Given the description of an element on the screen output the (x, y) to click on. 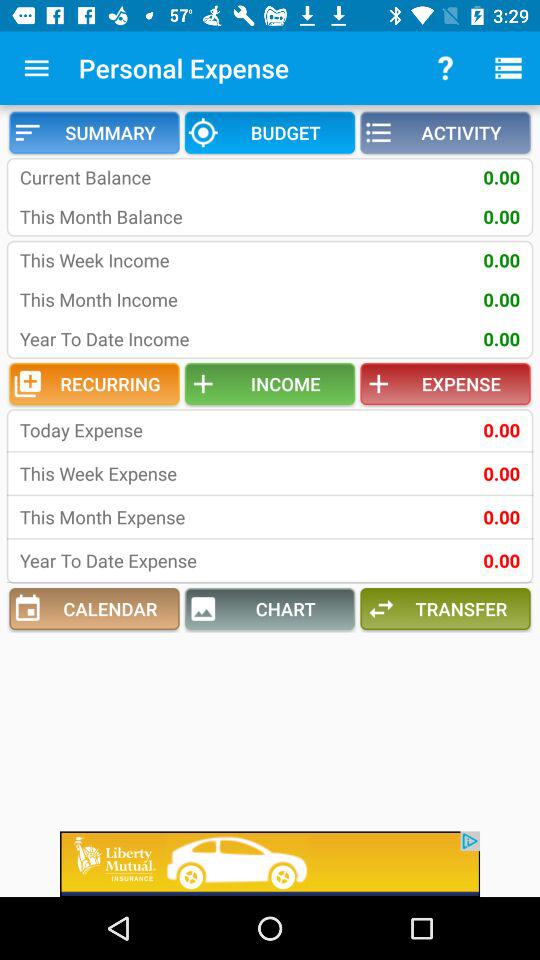
press item next to income (94, 384)
